Given the description of an element on the screen output the (x, y) to click on. 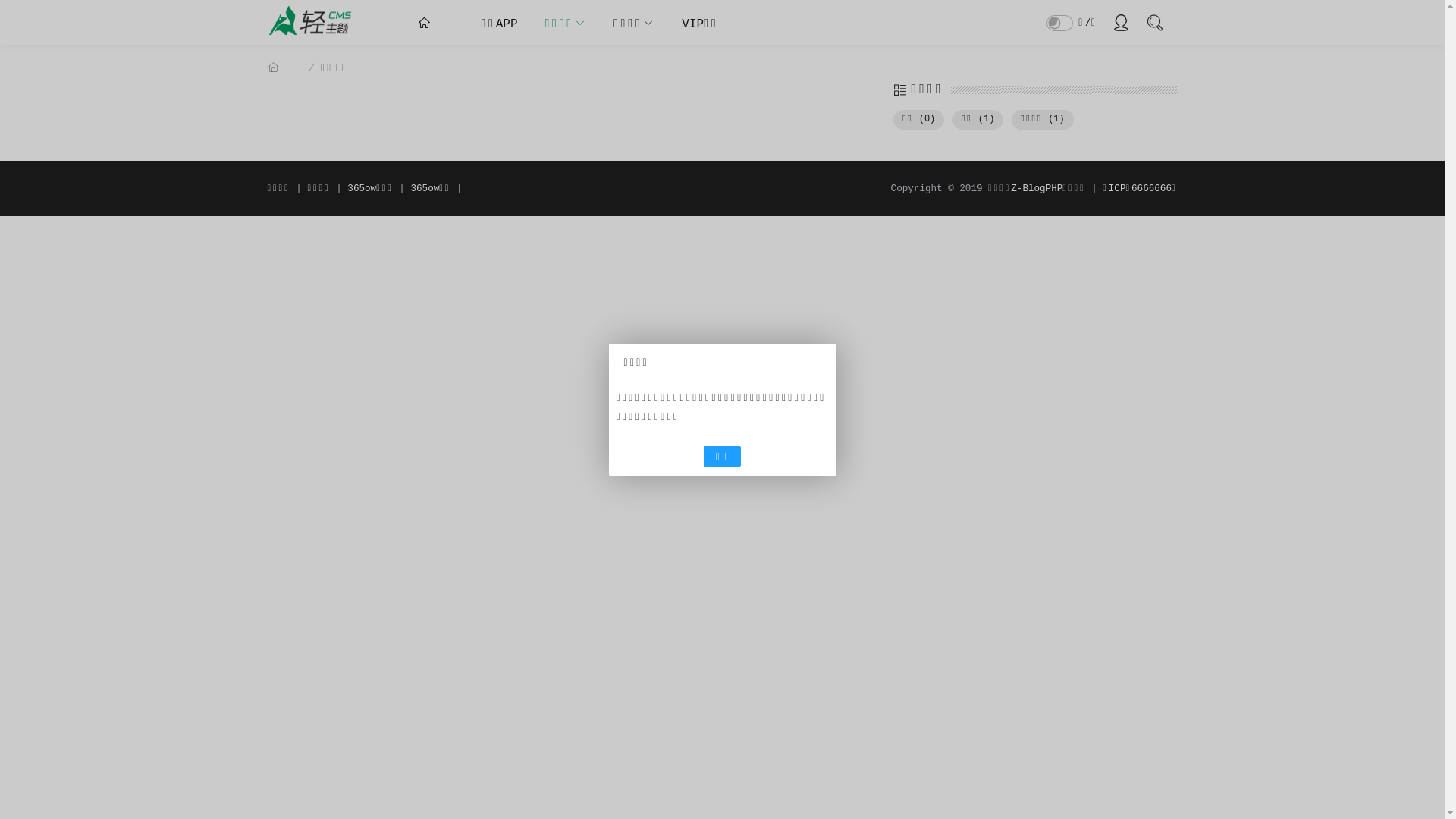
365ow Element type: hover (314, 21)
365ow Element type: hover (314, 39)
Z-BlogPHP Element type: text (1036, 188)
